Given the description of an element on the screen output the (x, y) to click on. 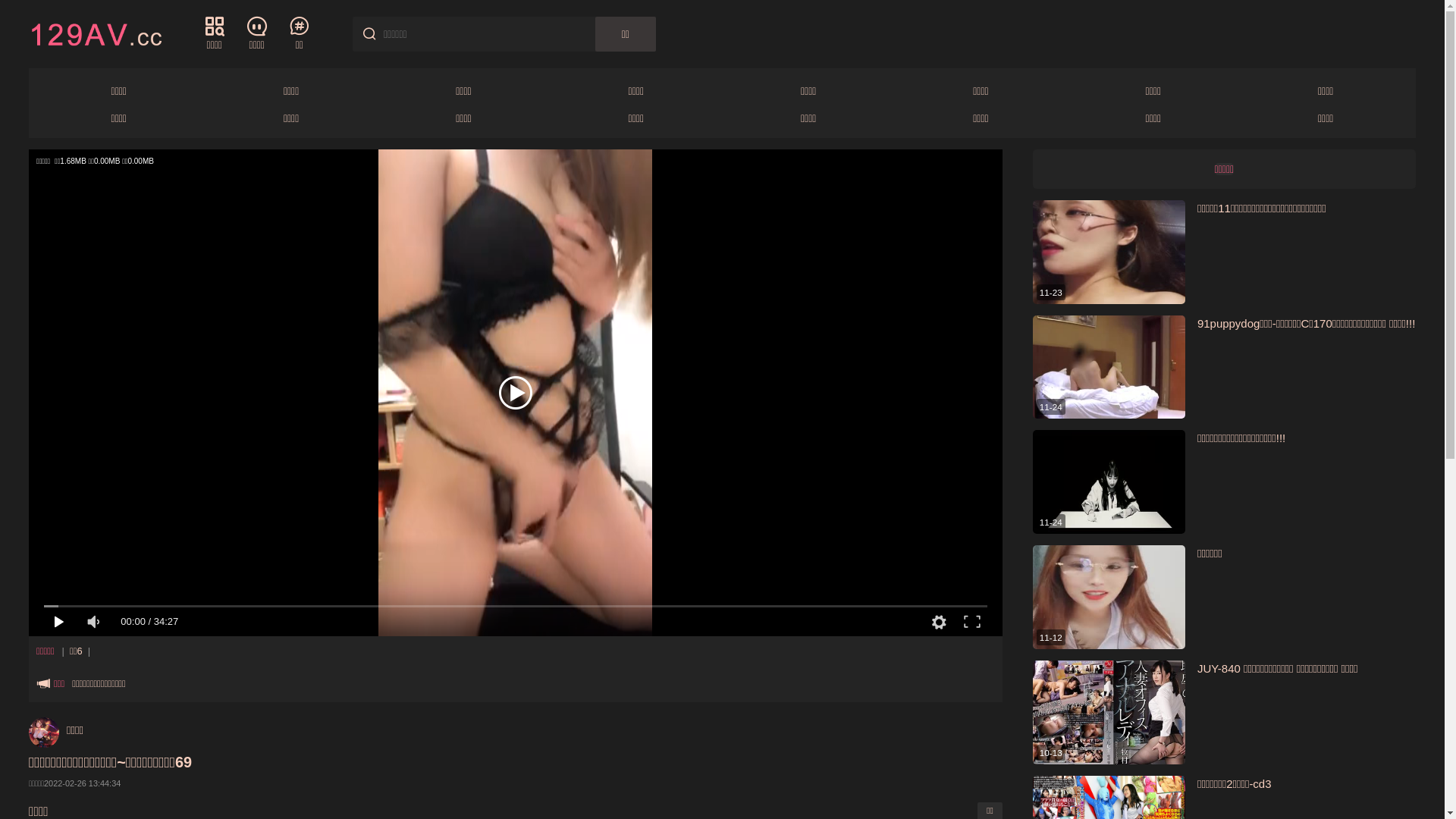
10-13 Element type: text (1108, 712)
11-24 Element type: text (1108, 367)
129AV Element type: hover (94, 33)
11-24 Element type: text (1108, 481)
11-12 Element type: text (1108, 597)
11-23 Element type: text (1108, 252)
